Given the description of an element on the screen output the (x, y) to click on. 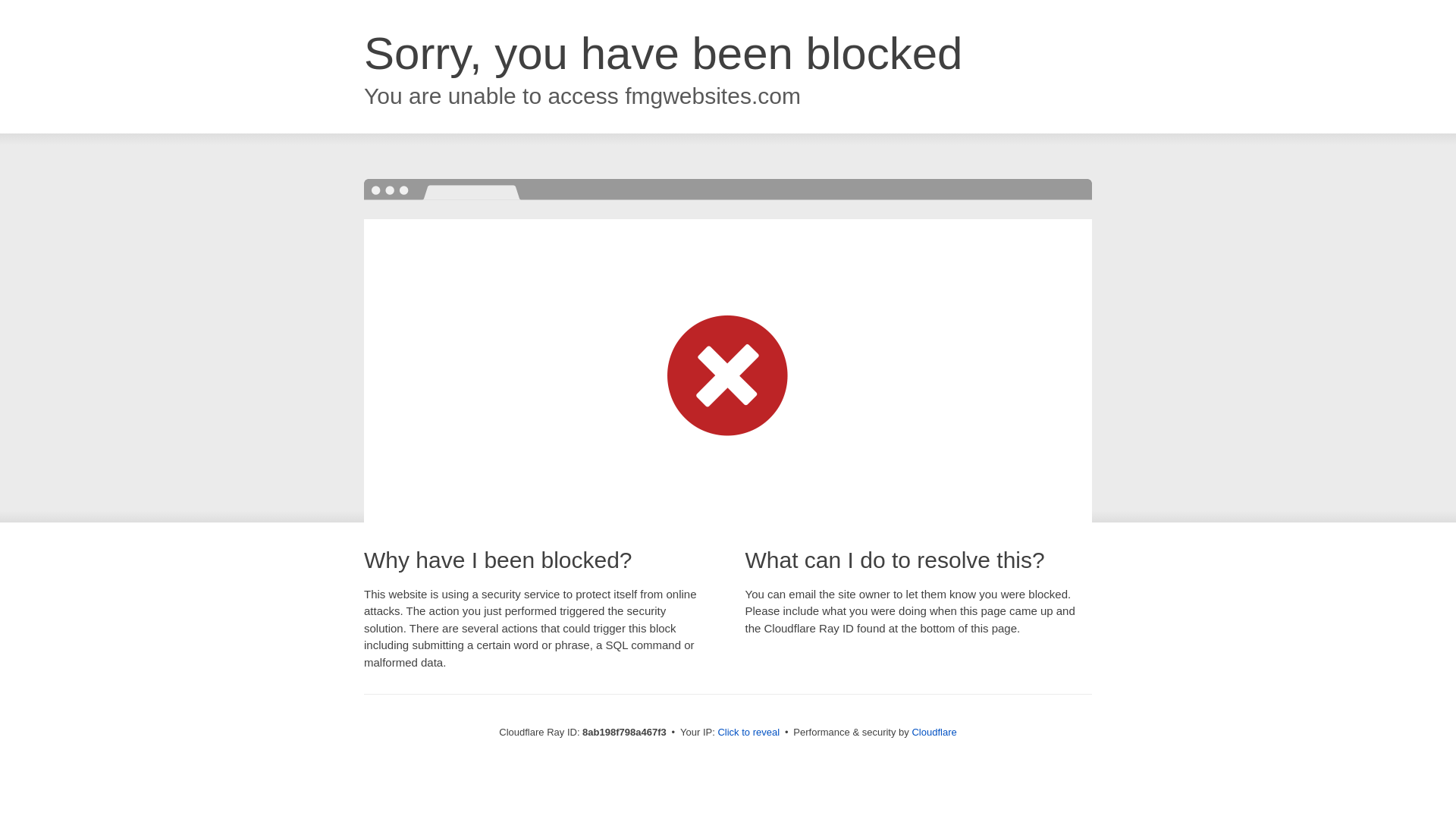
Click to reveal (747, 732)
Cloudflare (933, 731)
